Given the description of an element on the screen output the (x, y) to click on. 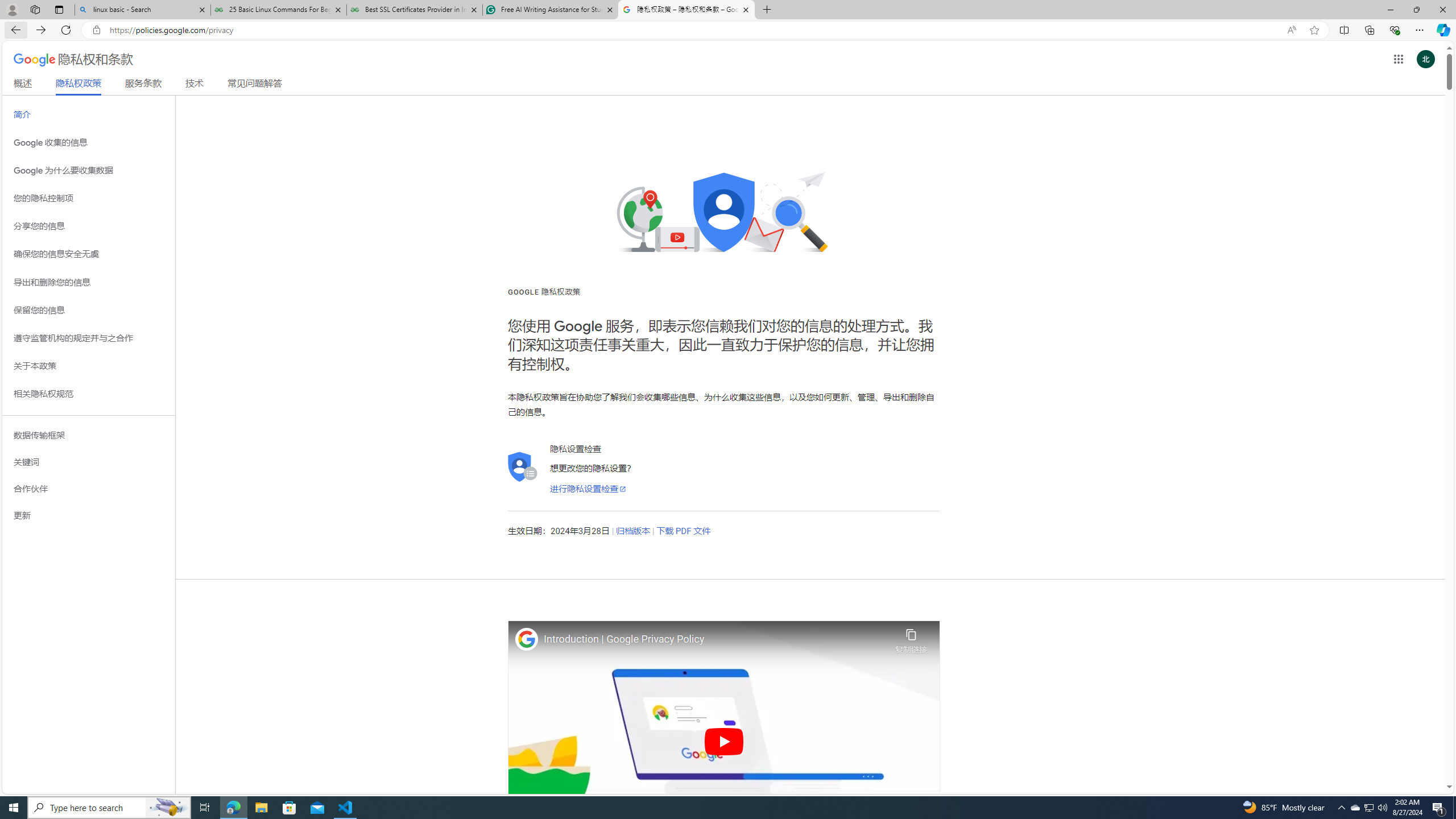
New Tab (766, 9)
Back (13, 29)
Settings and more (Alt+F) (1419, 29)
Introduction | Google Privacy Policy (716, 639)
Add this page to favorites (Ctrl+D) (1314, 29)
Read aloud this page (Ctrl+Shift+U) (1291, 29)
